Given the description of an element on the screen output the (x, y) to click on. 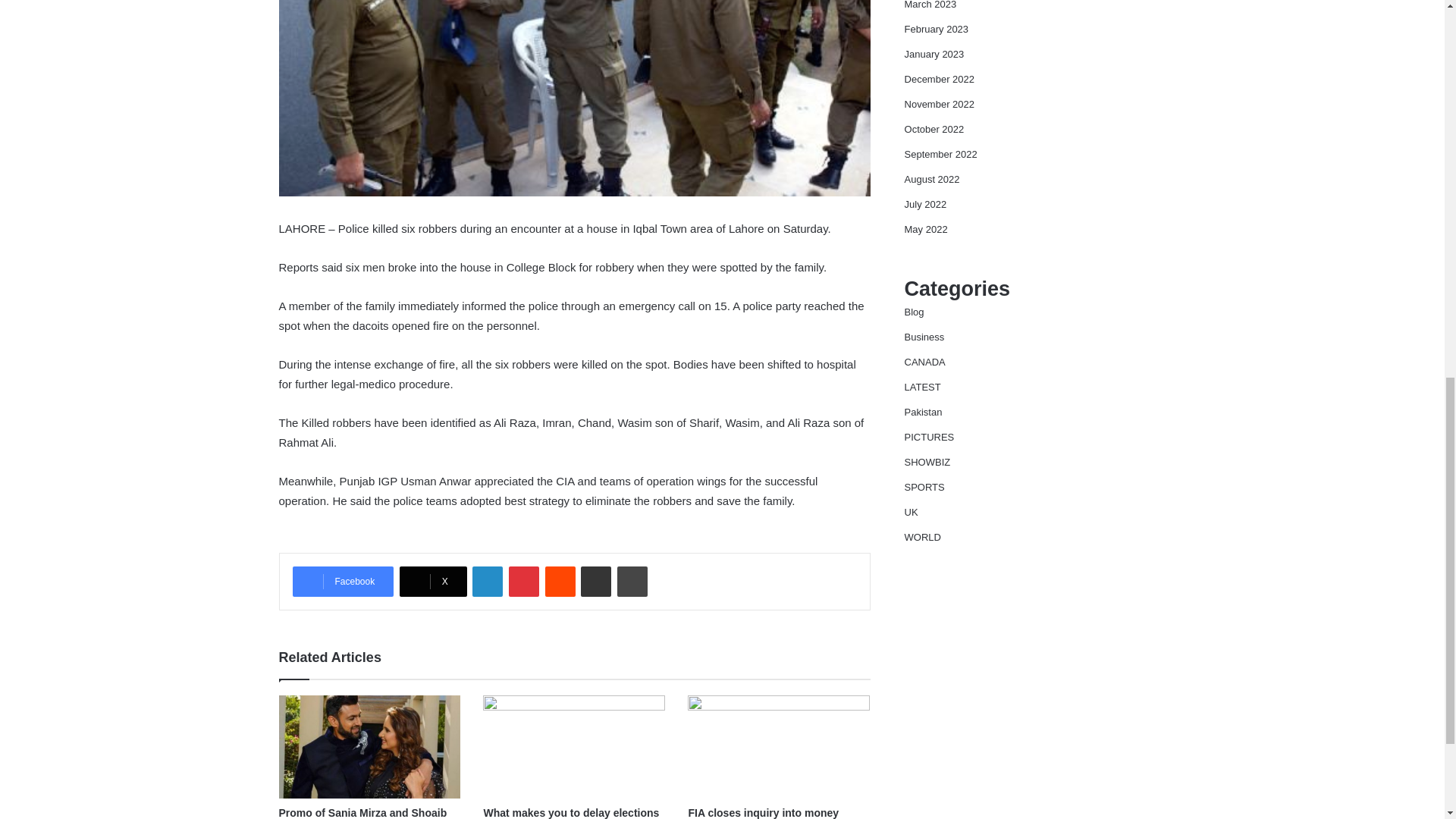
LinkedIn (486, 581)
Reddit (559, 581)
Facebook (343, 581)
X (432, 581)
Pinterest (523, 581)
